Given the description of an element on the screen output the (x, y) to click on. 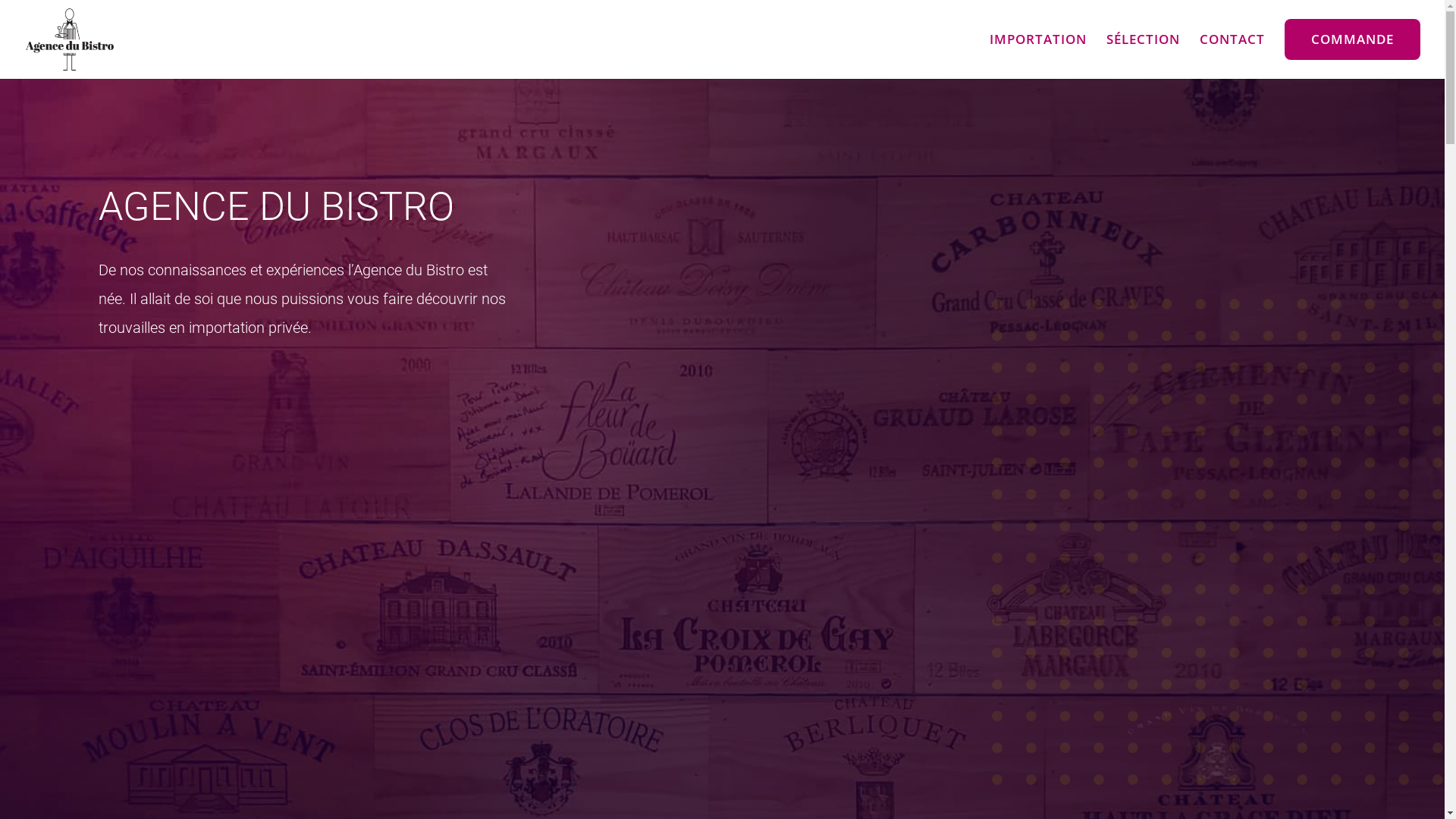
COMMANDE Element type: text (1352, 38)
CONTACT Element type: text (1231, 48)
IMPORTATION Element type: text (1037, 48)
